Given the description of an element on the screen output the (x, y) to click on. 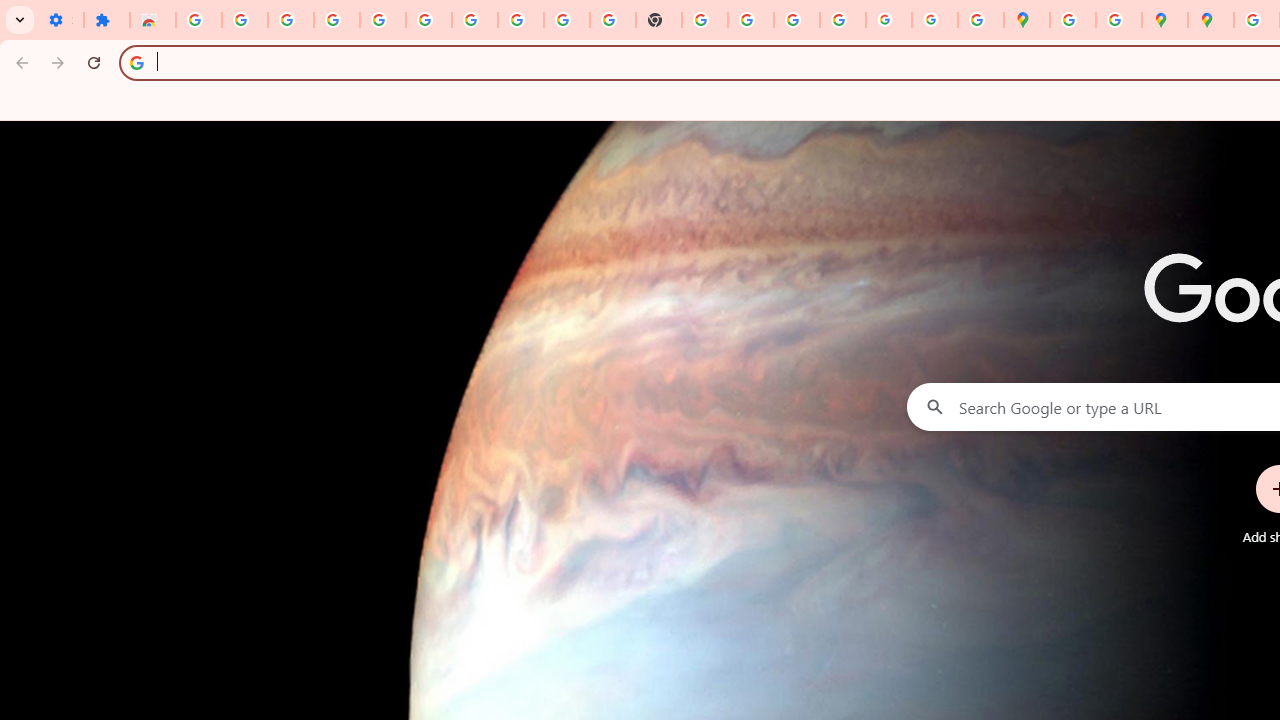
Sign in - Google Accounts (198, 20)
New Tab (659, 20)
